Given the description of an element on the screen output the (x, y) to click on. 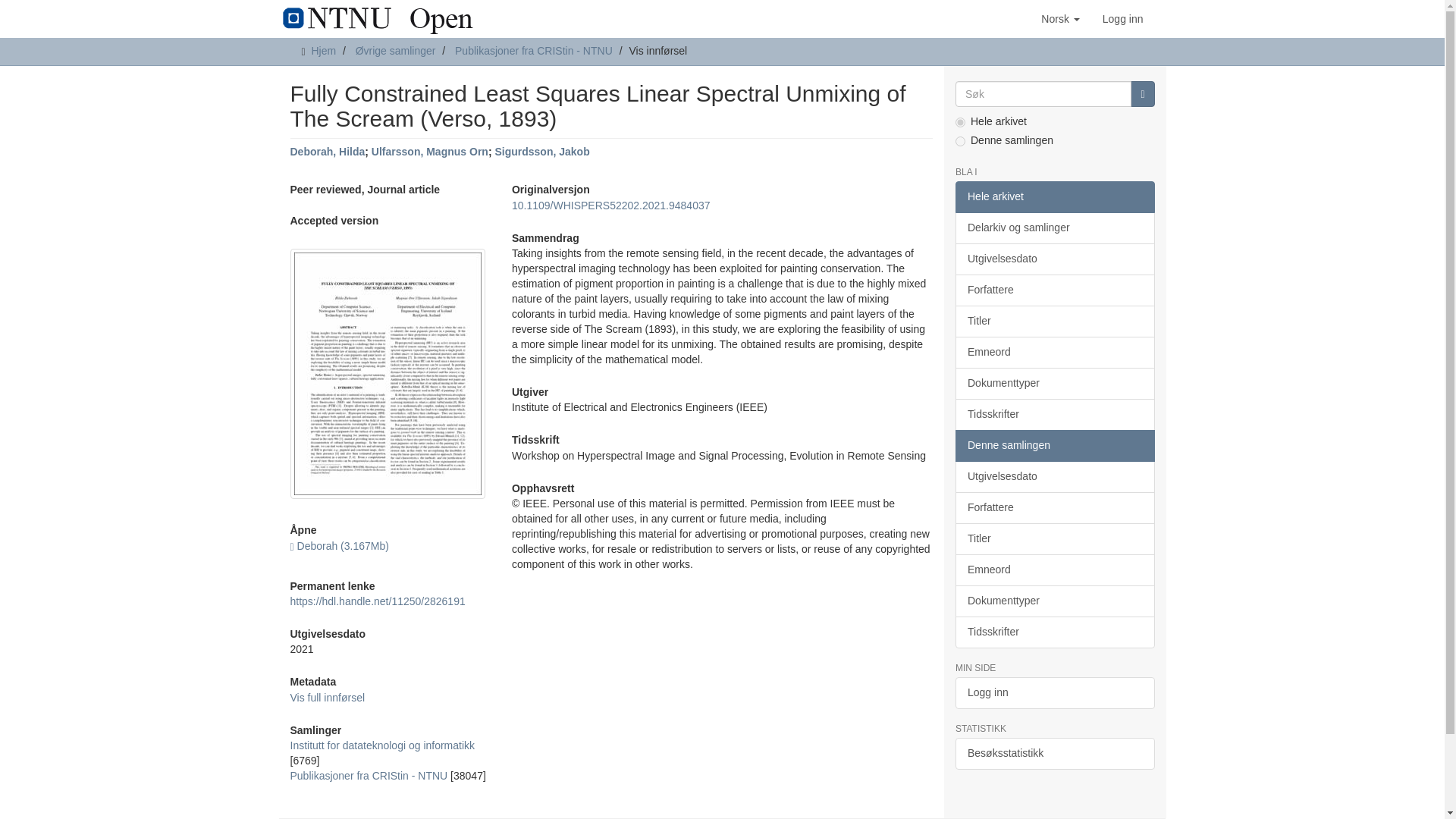
Sigurdsson, Jakob (542, 151)
Forfattere (1054, 290)
Hjem (323, 50)
Ulfarsson, Magnus Orn (429, 151)
Institutt for datateknologi og informatikk (381, 745)
Publikasjoner fra CRIStin - NTNU (367, 775)
Logg inn (1122, 18)
Norsk  (1059, 18)
Utgivelsesdato (1054, 259)
Delarkiv og samlinger (1054, 228)
Hele arkivet (1054, 196)
Publikasjoner fra CRIStin - NTNU (533, 50)
Deborah, Hilda (327, 151)
